Given the description of an element on the screen output the (x, y) to click on. 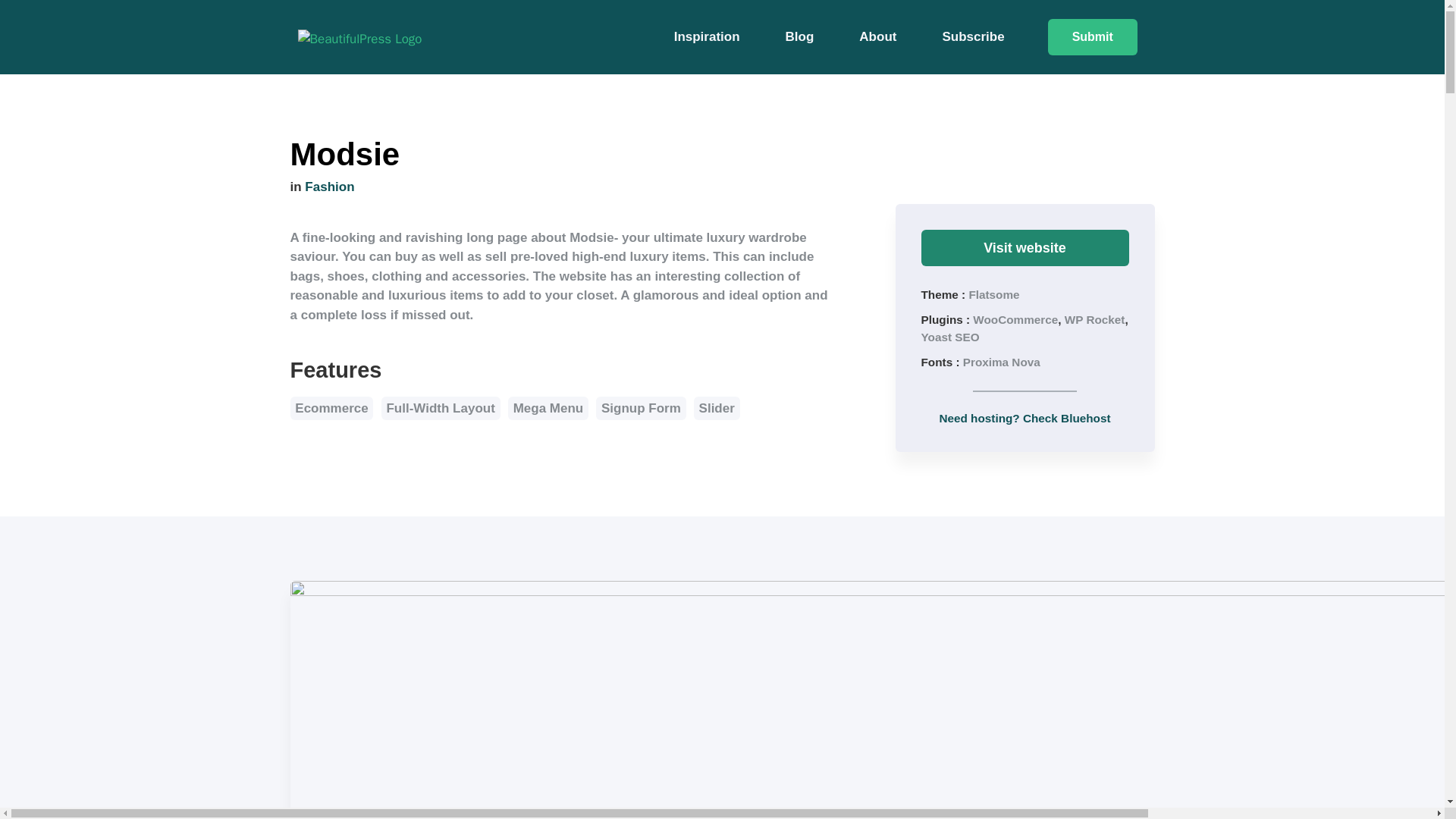
Subscribe (972, 37)
About (876, 37)
Inspiration (706, 37)
Blog (799, 37)
